Given the description of an element on the screen output the (x, y) to click on. 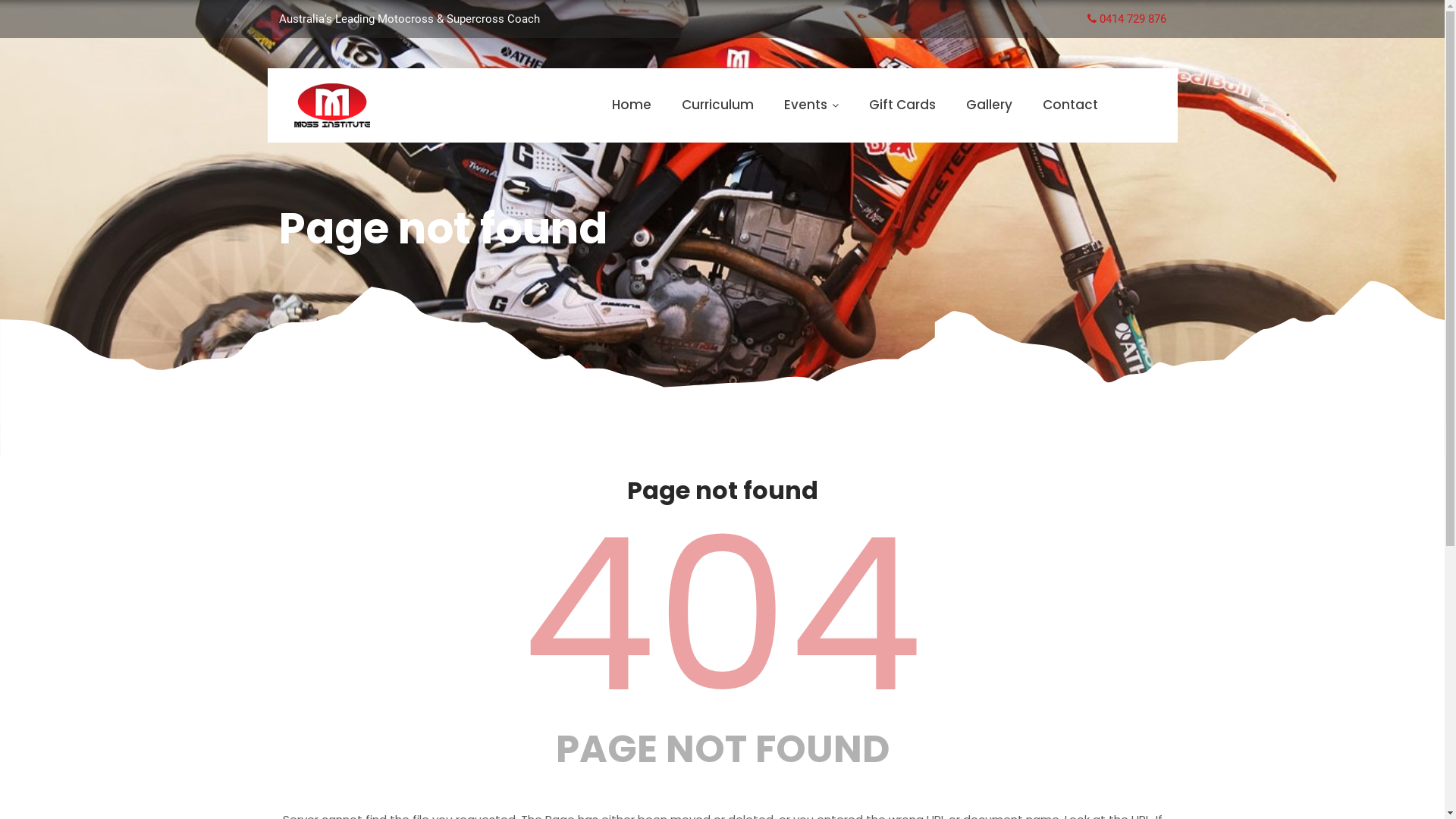
0414 729 876 Element type: text (1126, 18)
Gallery Element type: text (988, 104)
Moss Institute Element type: hover (332, 105)
Events Element type: text (810, 105)
404 Element type: text (721, 614)
Curriculum Element type: text (716, 104)
Contact Element type: text (1069, 104)
Home Element type: text (630, 104)
Gift Cards Element type: text (901, 104)
